Given the description of an element on the screen output the (x, y) to click on. 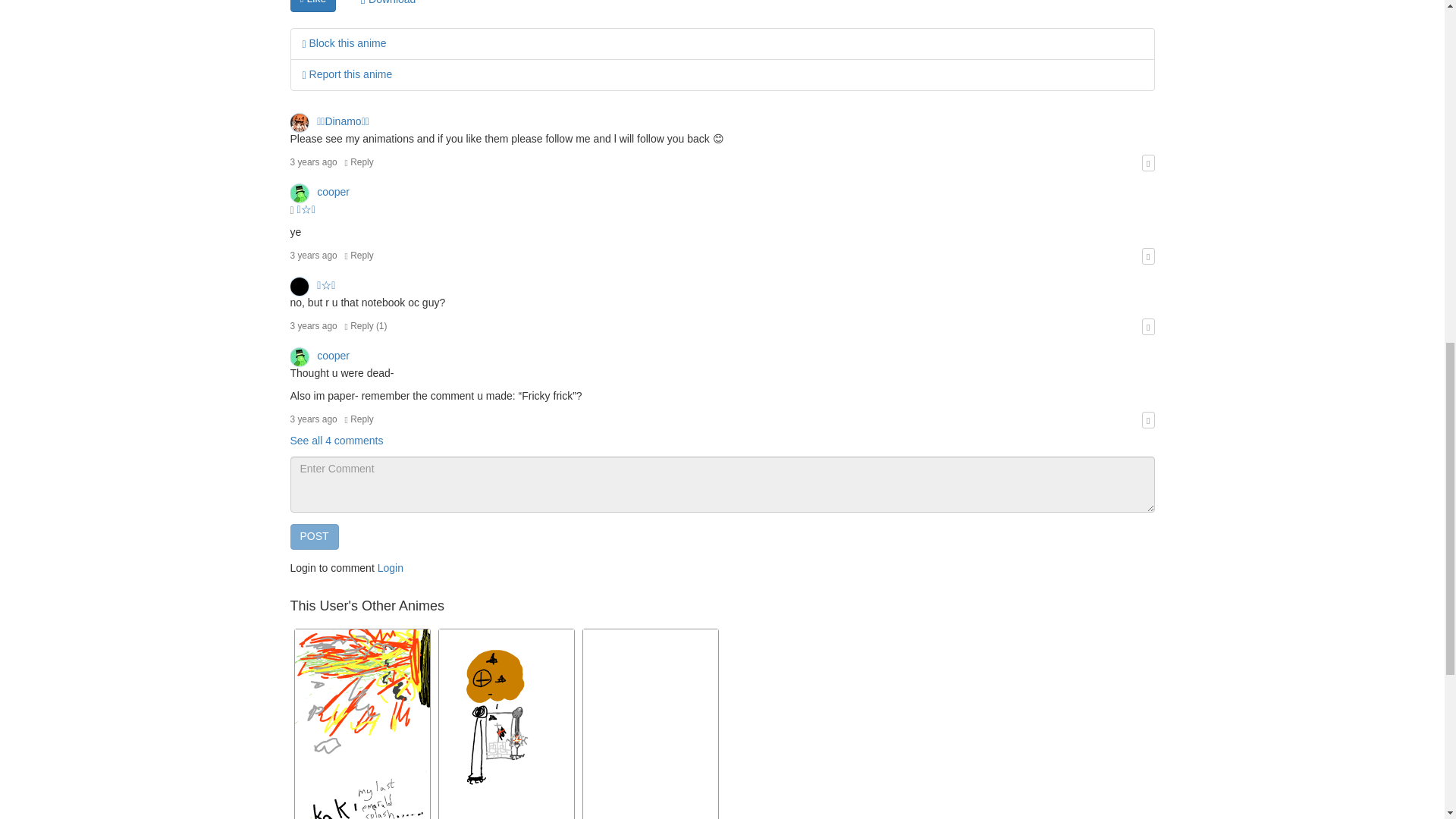
Download (388, 6)
Reply (359, 419)
See all 4 comments (335, 440)
POST (313, 536)
Report this anime (346, 73)
Login (390, 567)
  cooper (319, 355)
  cooper (319, 191)
Block this anime (343, 42)
POST (313, 536)
